Given the description of an element on the screen output the (x, y) to click on. 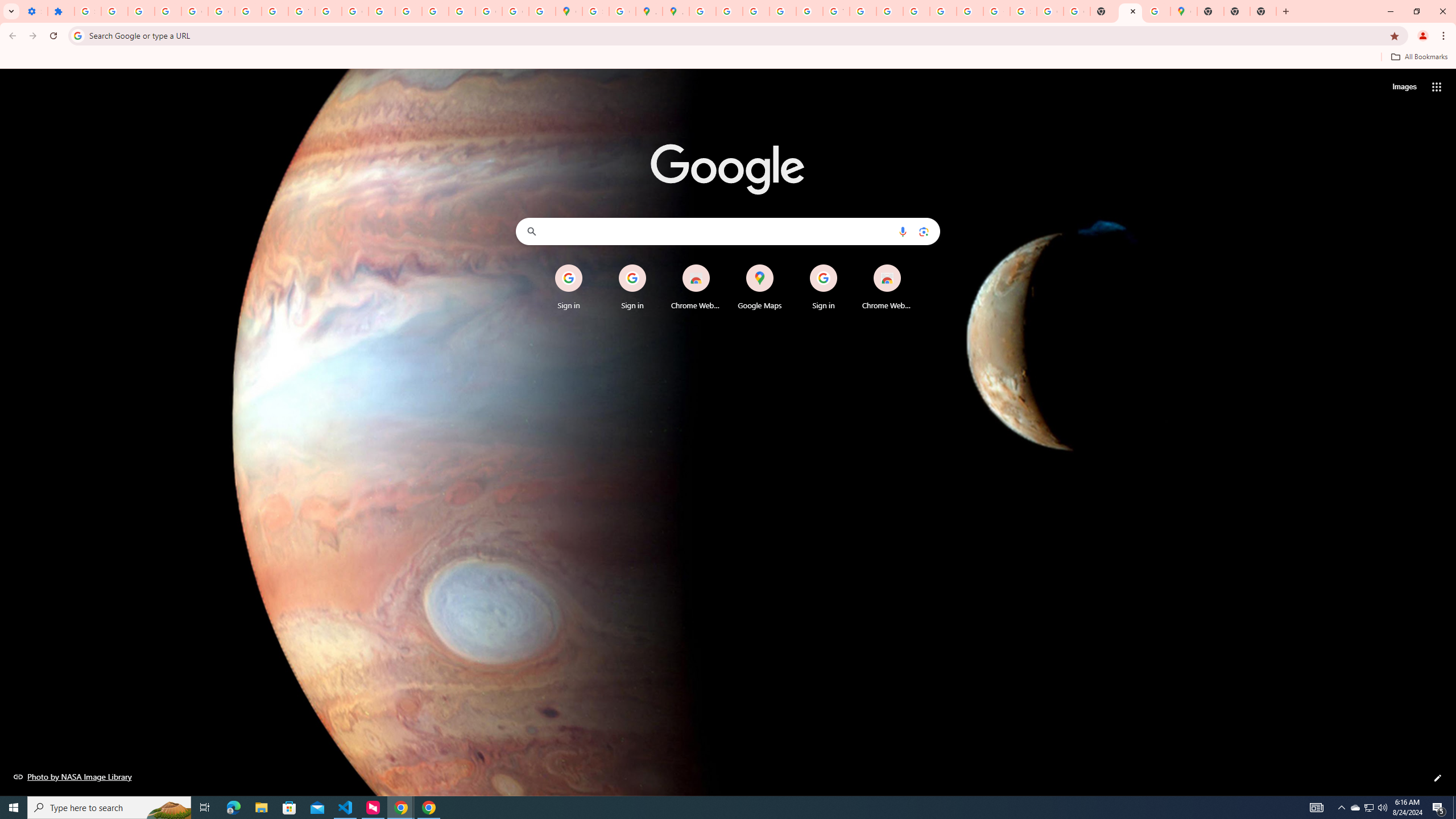
Photo by NASA Image Library (72, 776)
Learn how to find your photos - Google Photos Help (141, 11)
Search Google or type a URL (727, 230)
Privacy Help Center - Policies Help (756, 11)
Google Maps (760, 287)
